Given the description of an element on the screen output the (x, y) to click on. 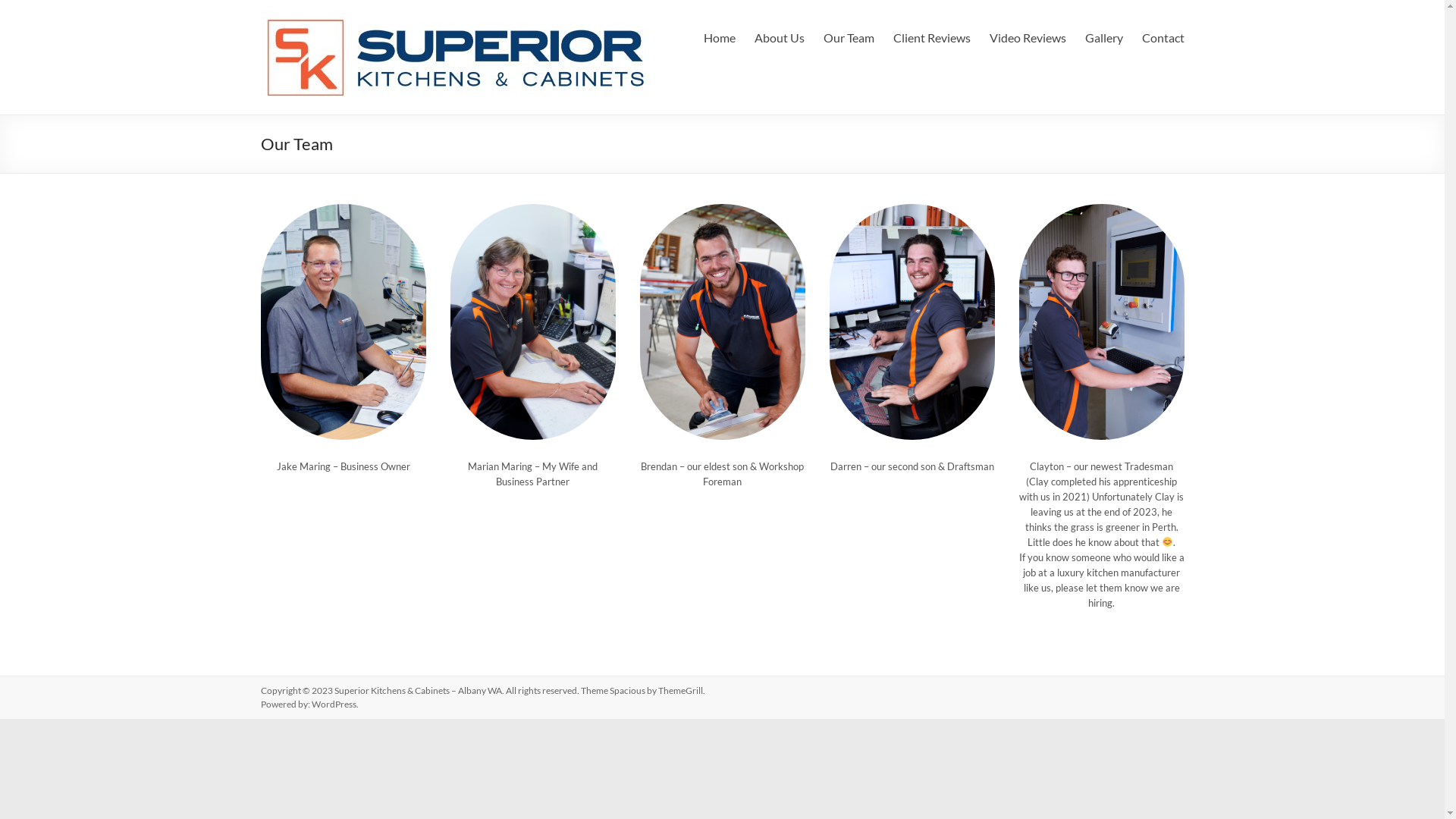
WordPress Element type: text (332, 703)
Our Team Element type: text (848, 37)
Spacious Element type: text (627, 690)
Client Reviews Element type: text (931, 37)
Contact Element type: text (1163, 37)
Home Element type: text (719, 37)
Video Reviews Element type: text (1026, 37)
Gallery Element type: text (1103, 37)
About Us Element type: text (778, 37)
